Given the description of an element on the screen output the (x, y) to click on. 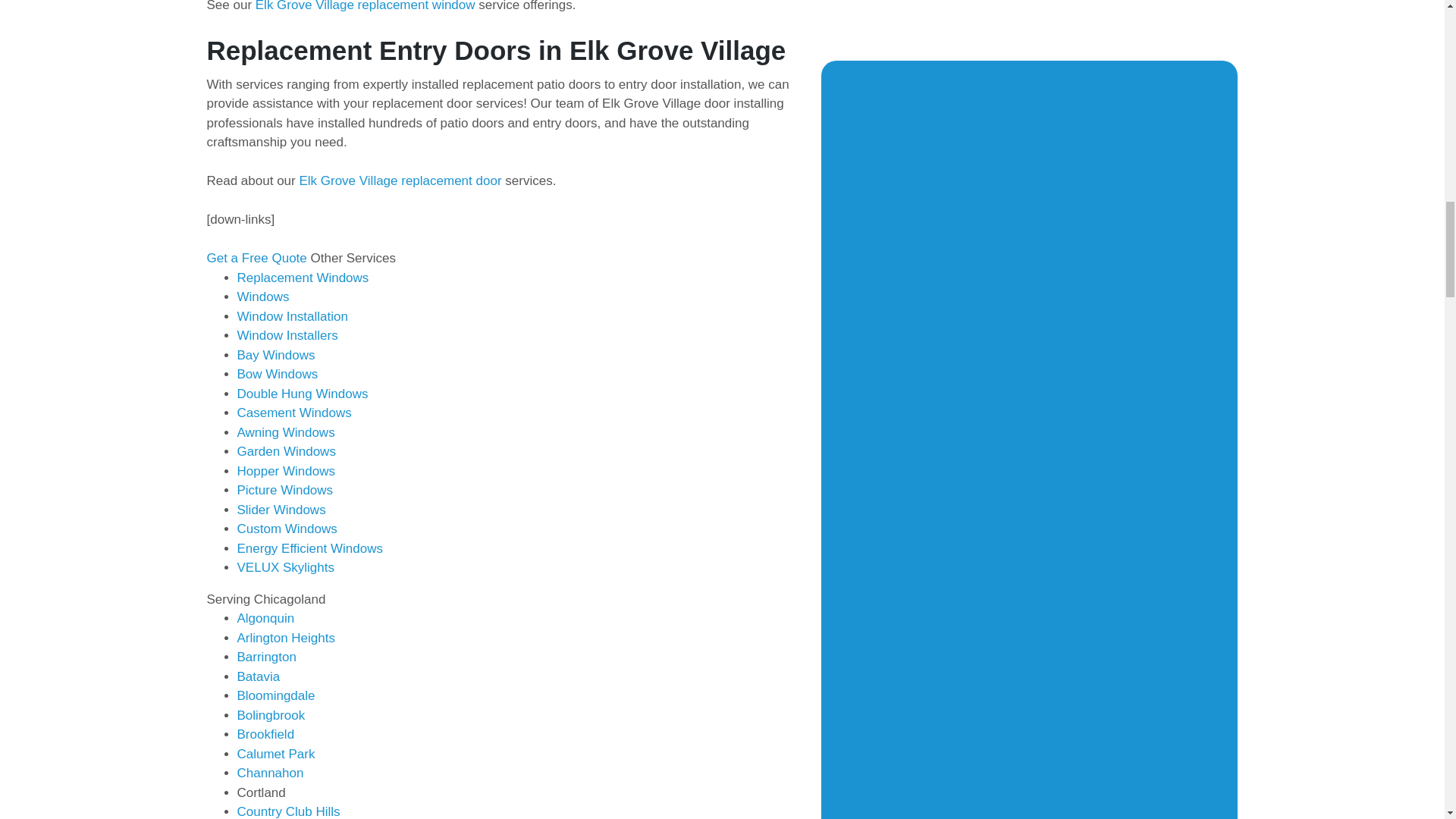
Elk Grove Village replacement window (366, 6)
Bow Windows (276, 373)
Windows (261, 296)
Bay Windows (274, 355)
Get a Free Quote (258, 257)
Casement Windows (292, 412)
Window Installation (291, 316)
Window Installers (286, 335)
Elk Grove Village replacement door (399, 180)
Replacement Windows (301, 278)
